Given the description of an element on the screen output the (x, y) to click on. 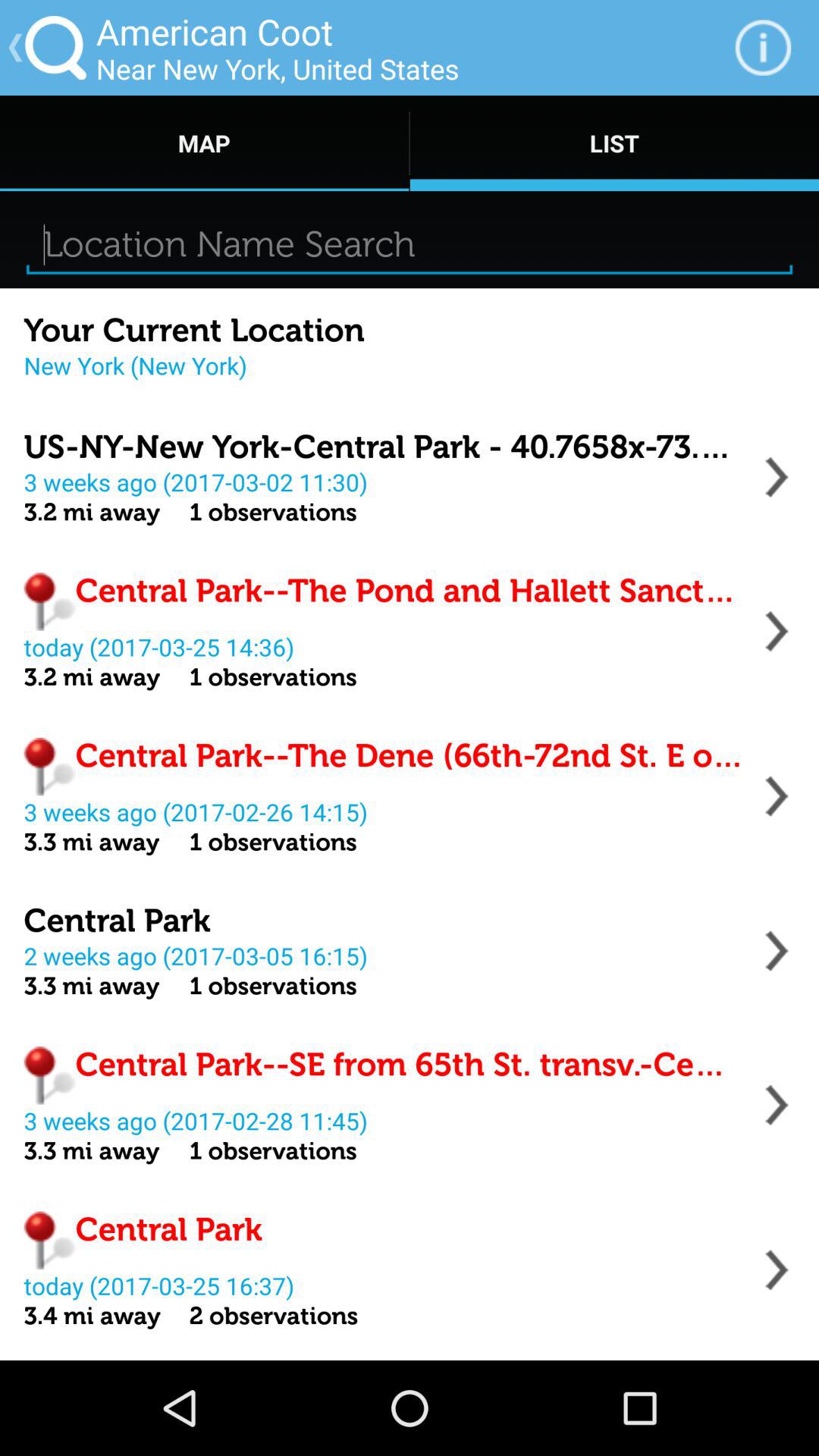
select location (776, 477)
